Given the description of an element on the screen output the (x, y) to click on. 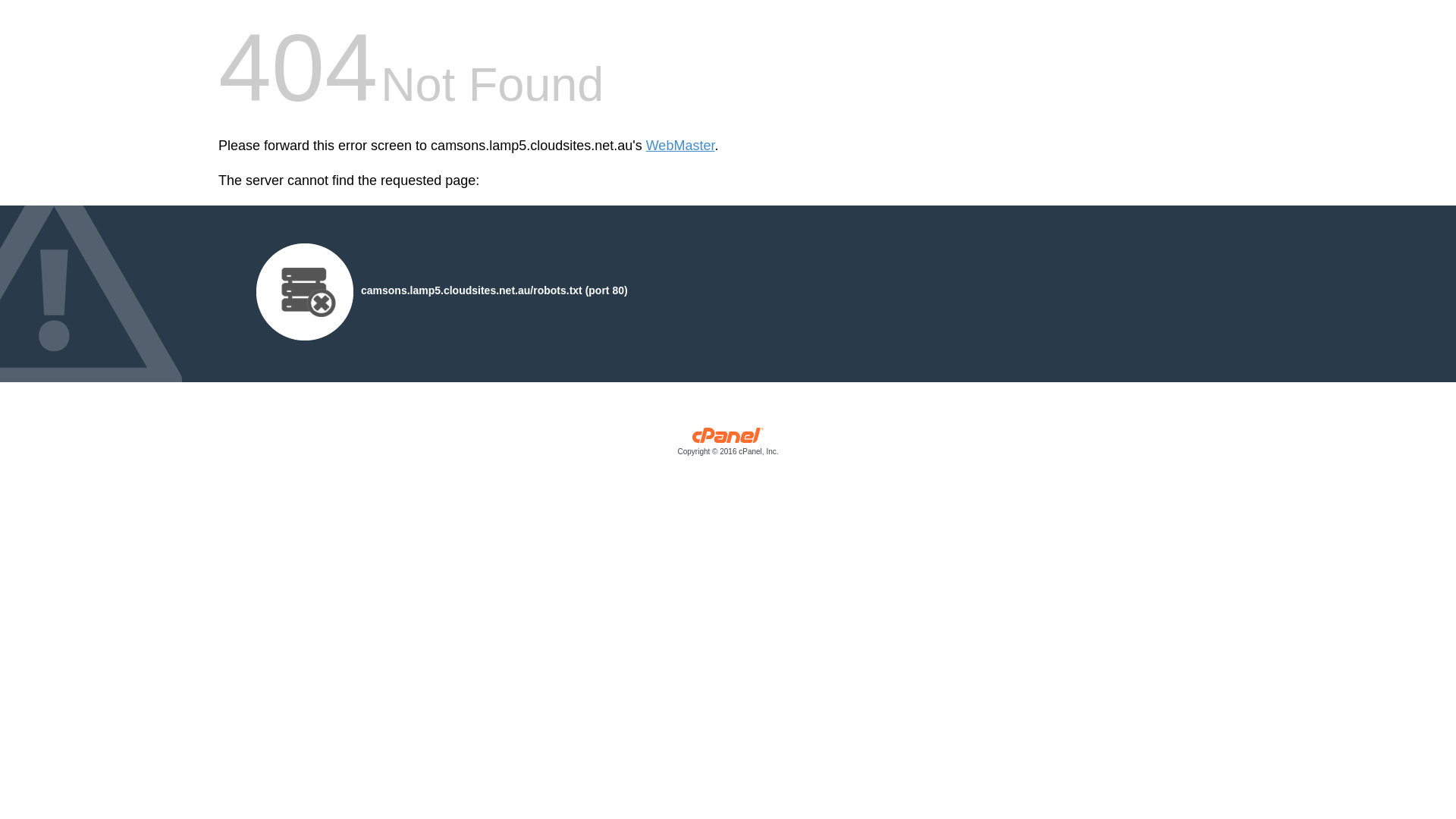
WebMaster Element type: text (680, 145)
